Given the description of an element on the screen output the (x, y) to click on. 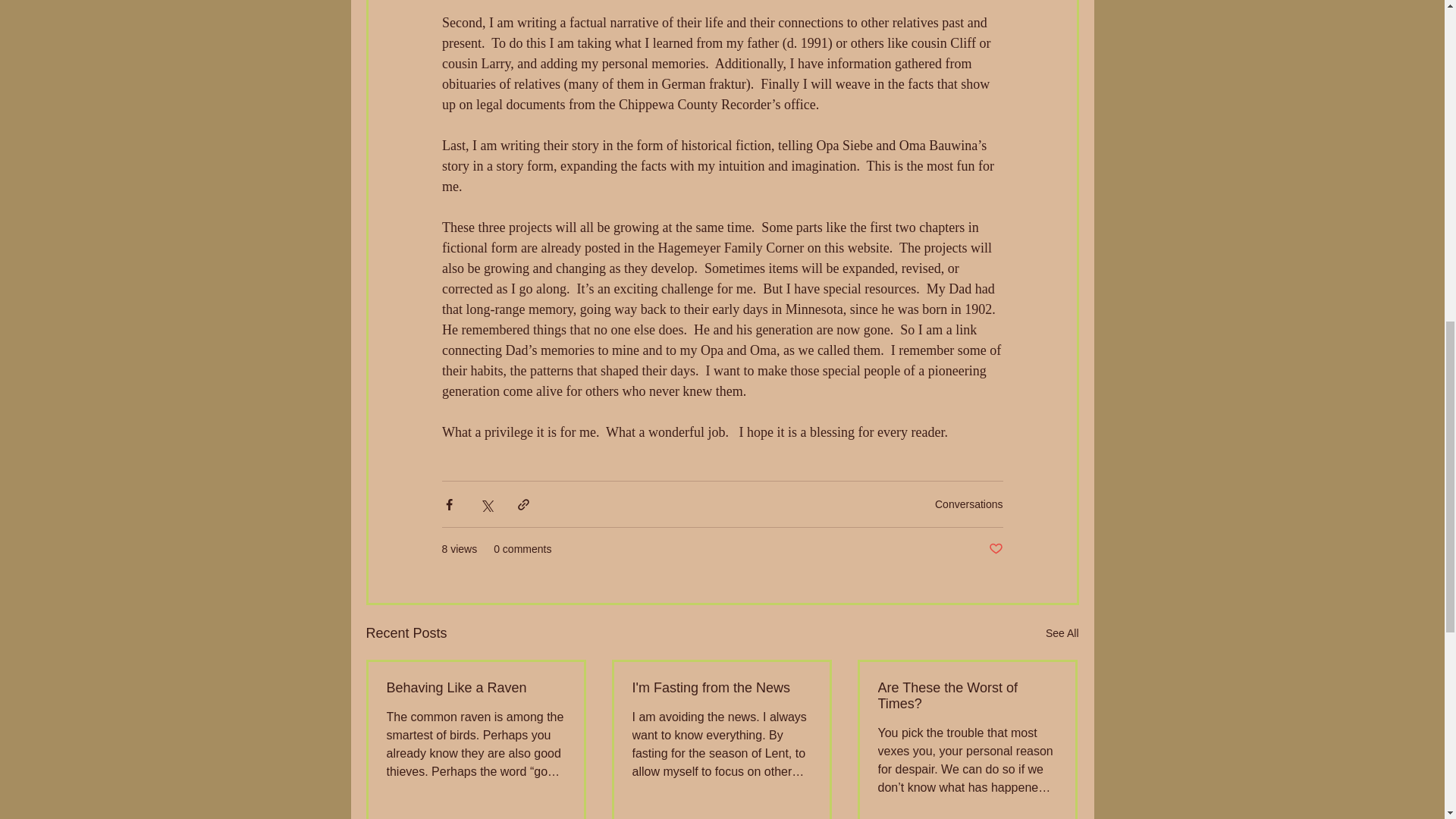
Are These the Worst of Times? (967, 695)
See All (1061, 633)
Behaving Like a Raven (476, 688)
Post not marked as liked (995, 549)
I'm Fasting from the News (720, 688)
Conversations (968, 503)
